Given the description of an element on the screen output the (x, y) to click on. 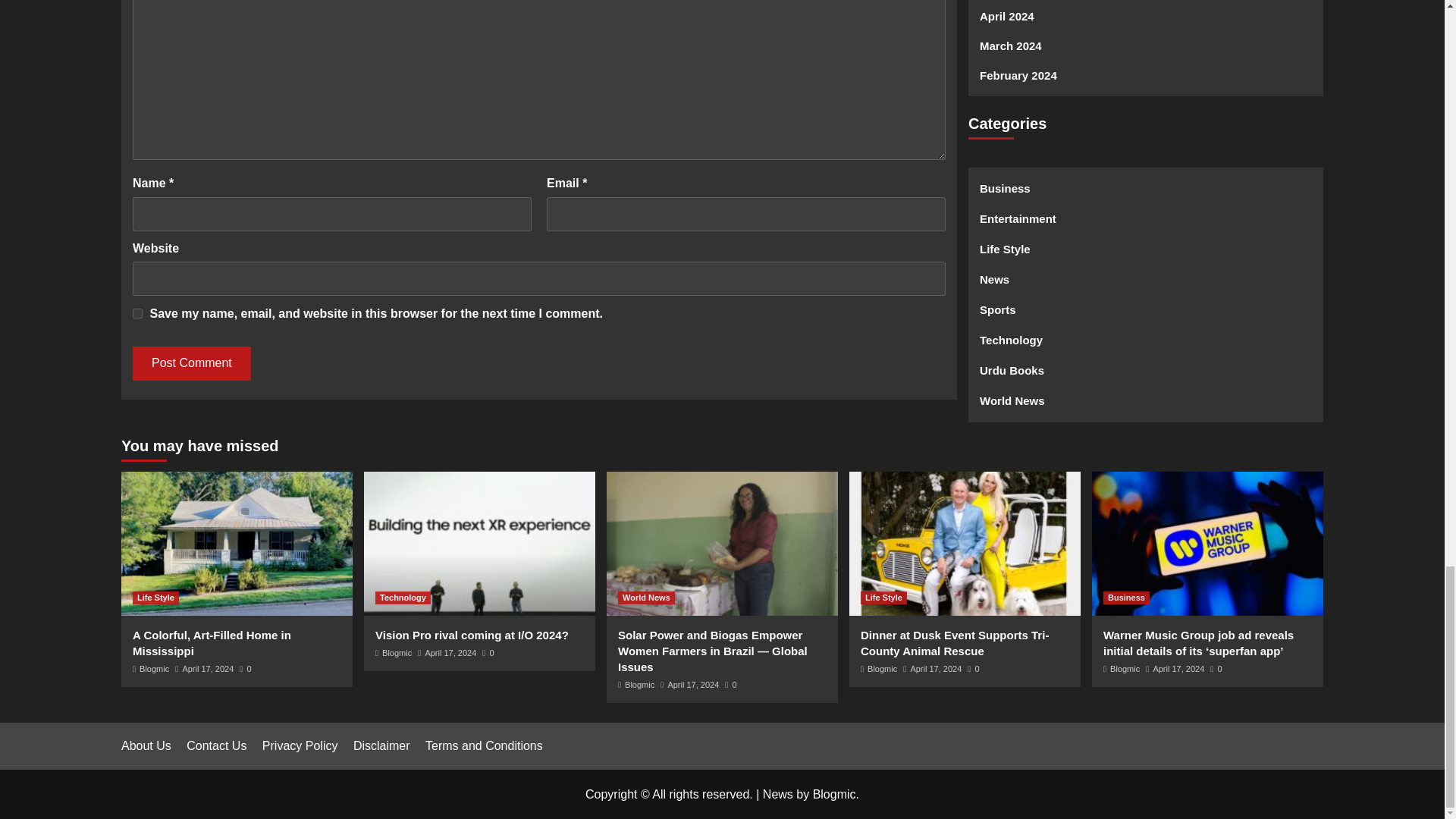
Post Comment (191, 363)
yes (137, 313)
